Given the description of an element on the screen output the (x, y) to click on. 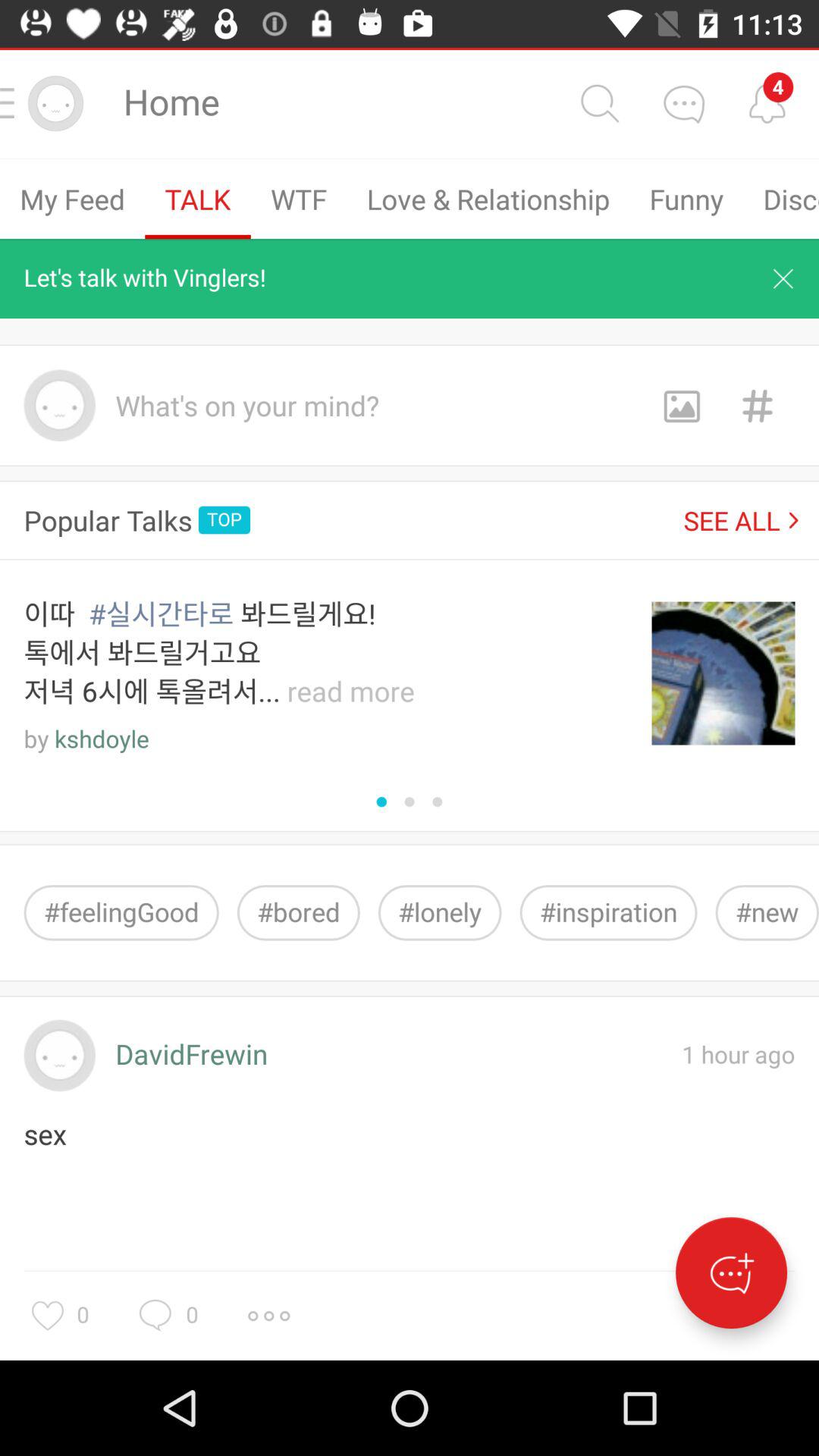
close notification (783, 278)
